Given the description of an element on the screen output the (x, y) to click on. 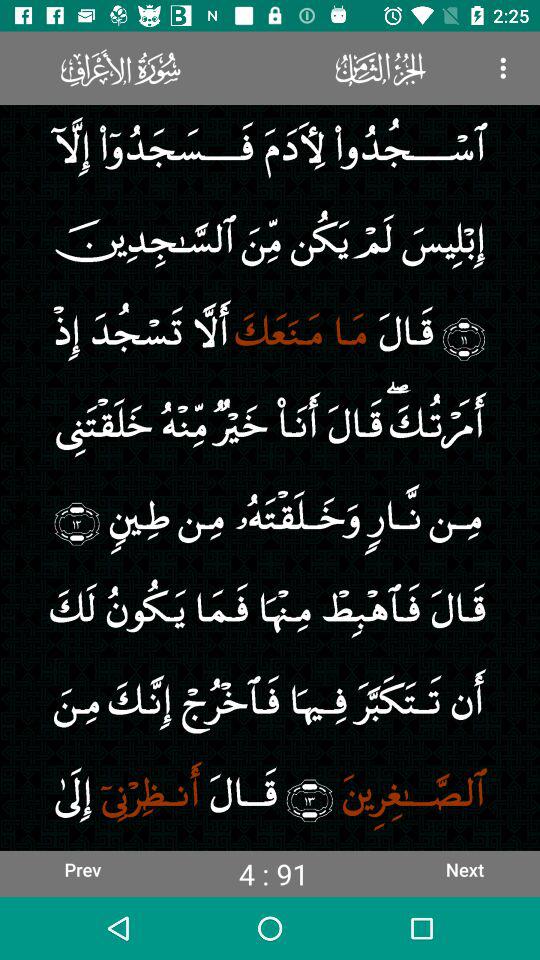
swipe to next item (464, 869)
